Given the description of an element on the screen output the (x, y) to click on. 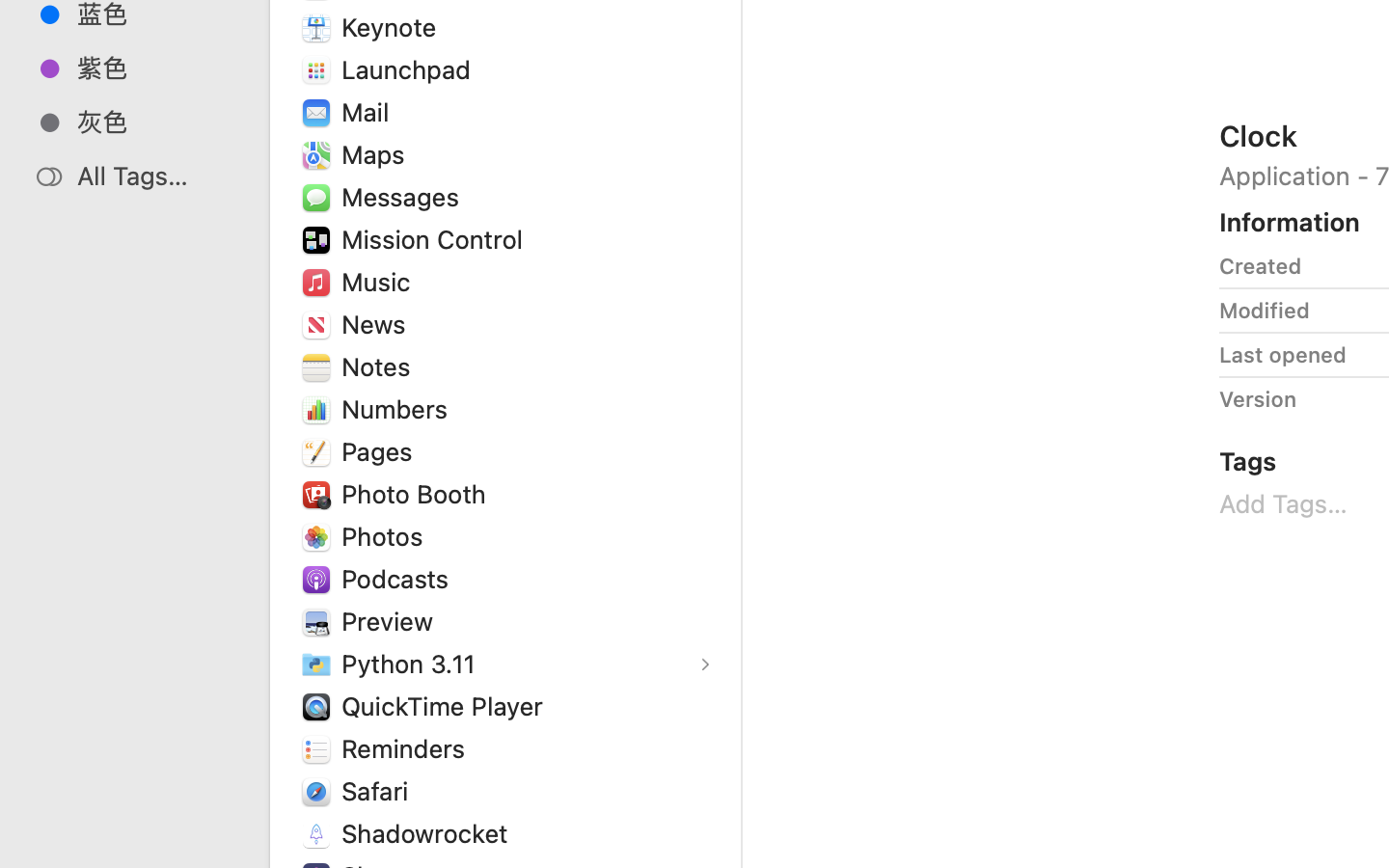
Podcasts Element type: AXTextField (399, 578)
Python 3.11 Element type: AXTextField (412, 663)
